Given the description of an element on the screen output the (x, y) to click on. 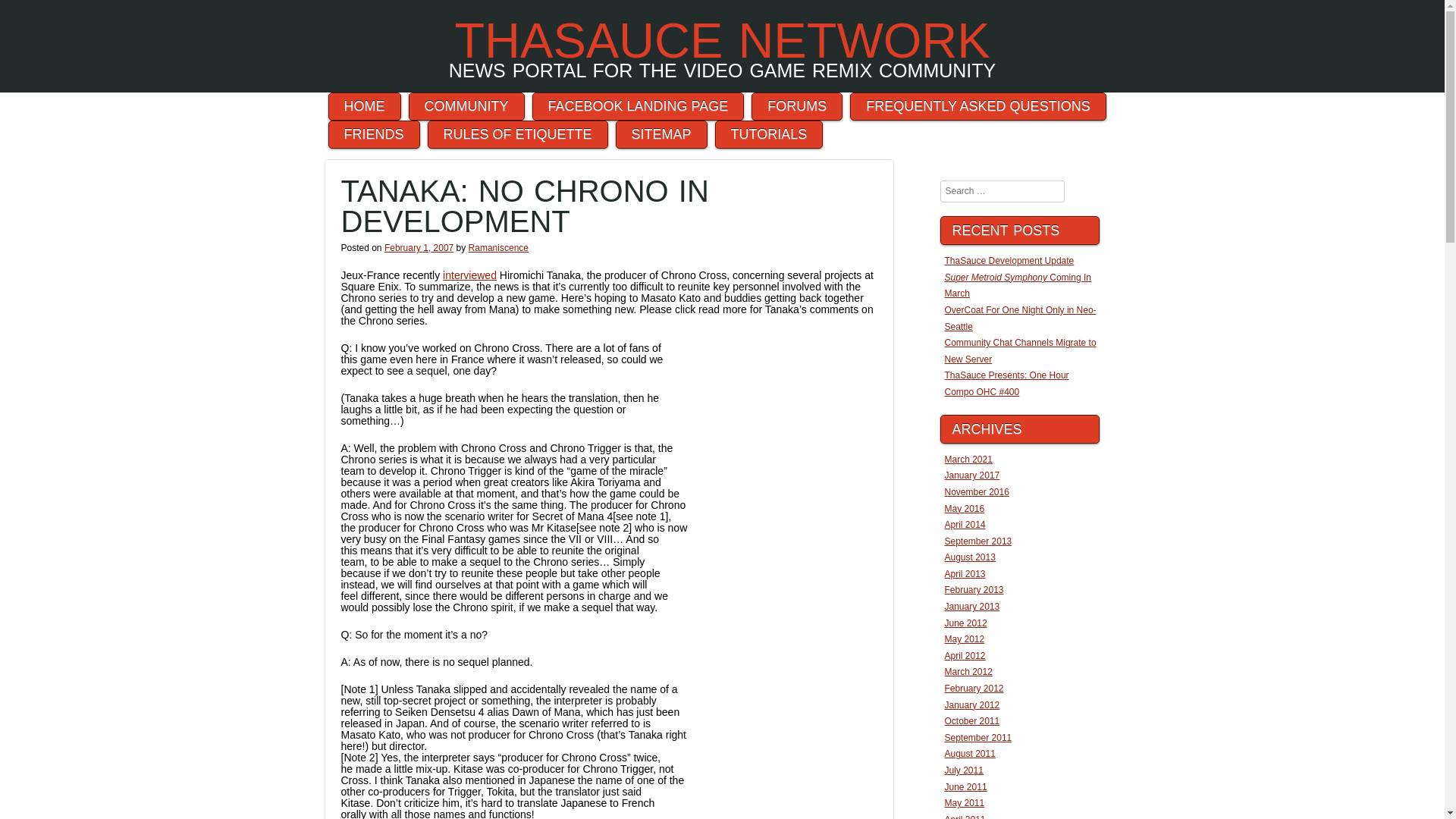
January 2013 (972, 606)
COMMUNITY (466, 106)
OverCoat For One Night Only in Neo-Seattle (1020, 318)
May 2012 (964, 638)
May 2016 (964, 508)
Ramaniscence (498, 247)
RULES OF ETIQUETTE (518, 134)
Super Metroid Symphony Coming In March (1017, 285)
THASAUCE NETWORK (722, 40)
April 2014 (964, 524)
FORUMS (797, 106)
March 2012 (968, 671)
June 2012 (965, 623)
FACEBOOK LANDING PAGE (637, 106)
FRIENDS (373, 134)
